Given the description of an element on the screen output the (x, y) to click on. 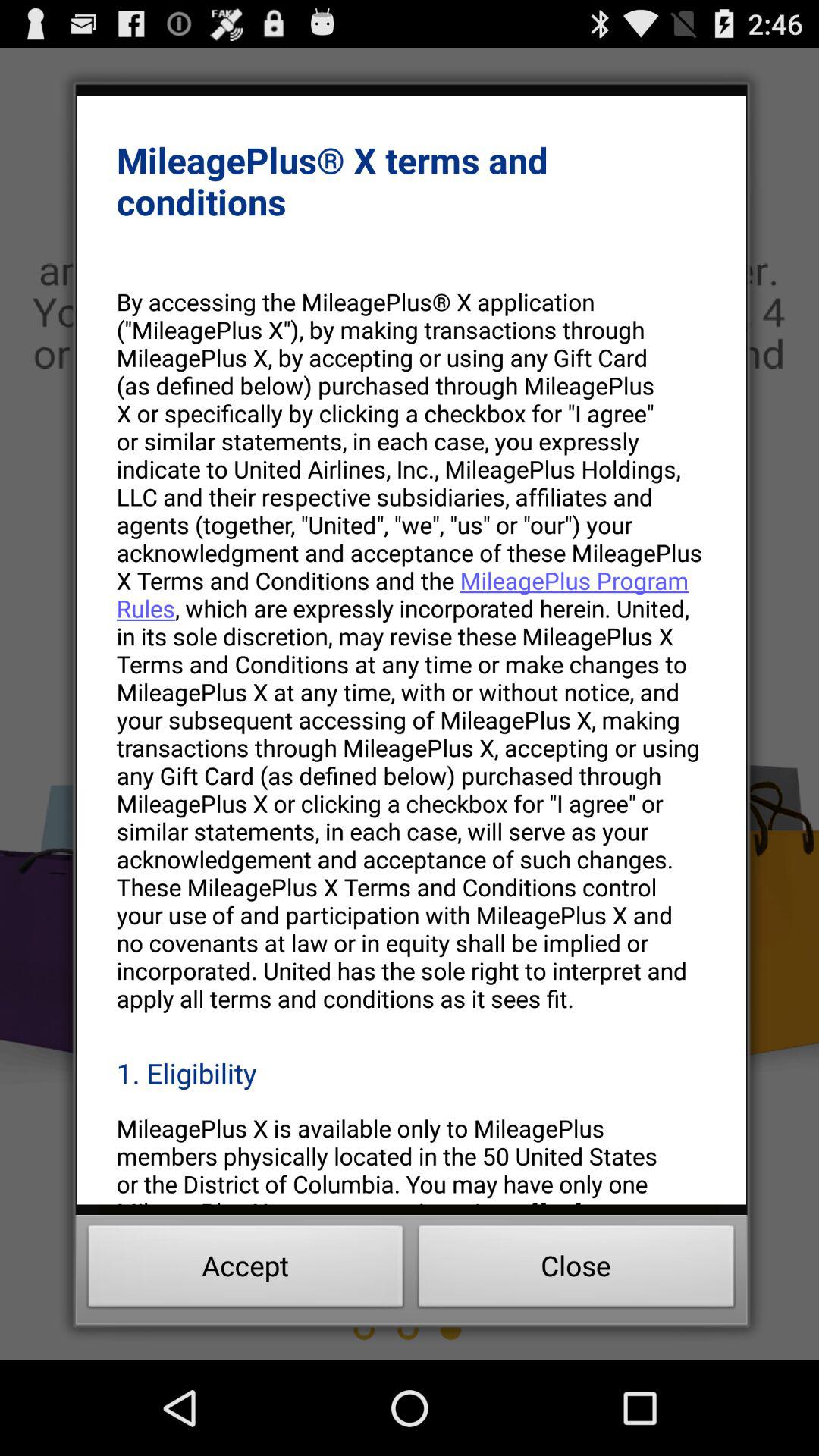
turn on the icon next to the close icon (245, 1270)
